Given the description of an element on the screen output the (x, y) to click on. 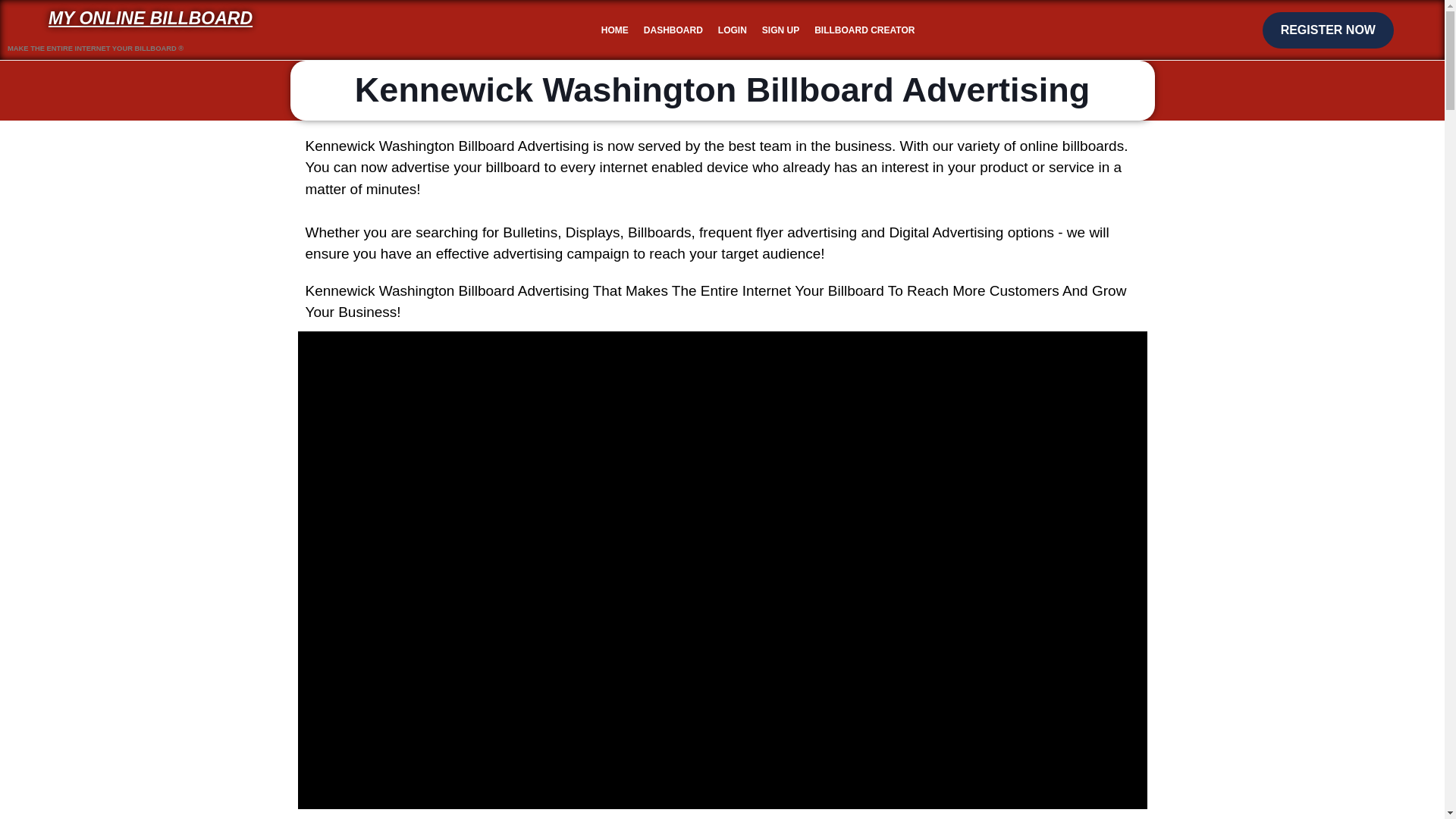
BILLBOARD CREATOR (863, 30)
LOGIN (732, 30)
DASHBOARD (673, 30)
REGISTER NOW (1327, 30)
MY ONLINE BILLBOARD (149, 17)
SIGN UP (780, 30)
HOME (615, 30)
